Given the description of an element on the screen output the (x, y) to click on. 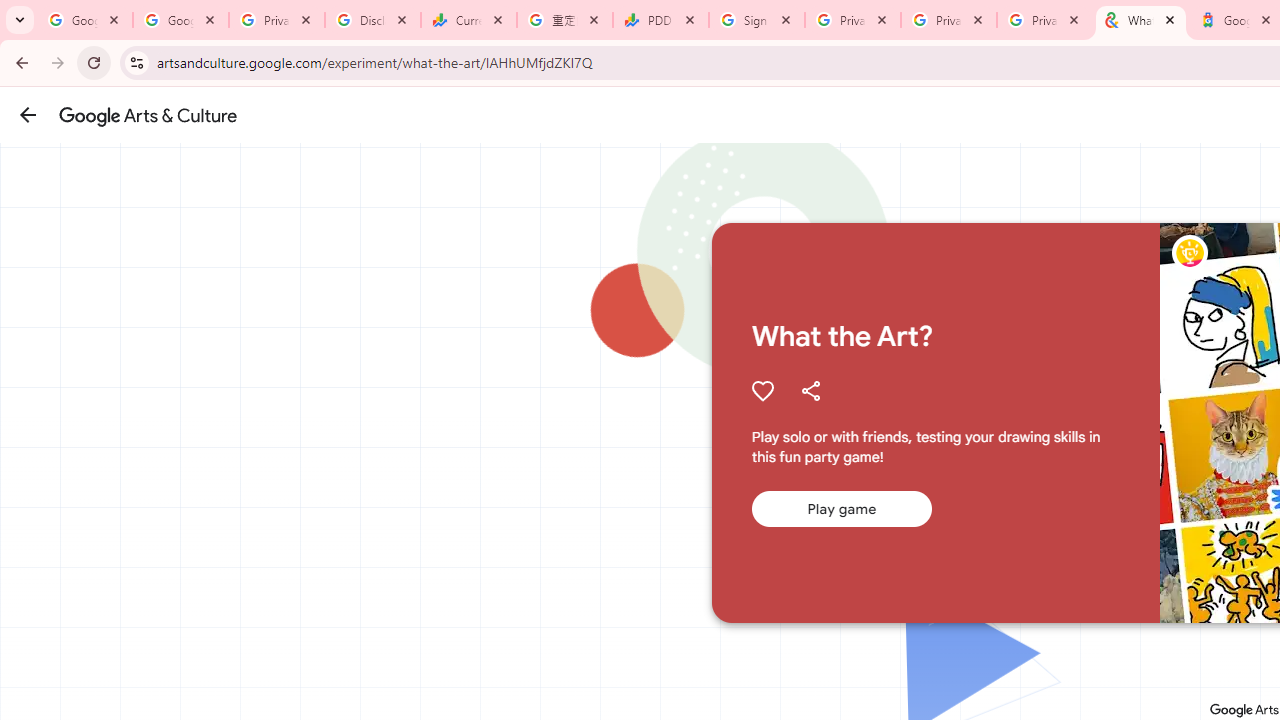
Google Workspace Admin Community (85, 20)
PDD Holdings Inc - ADR (PDD) Price & News - Google Finance (661, 20)
Privacy Checkup (1045, 20)
Share "What the Art?" (809, 390)
Authenticate to favorite this asset. (762, 390)
